Given the description of an element on the screen output the (x, y) to click on. 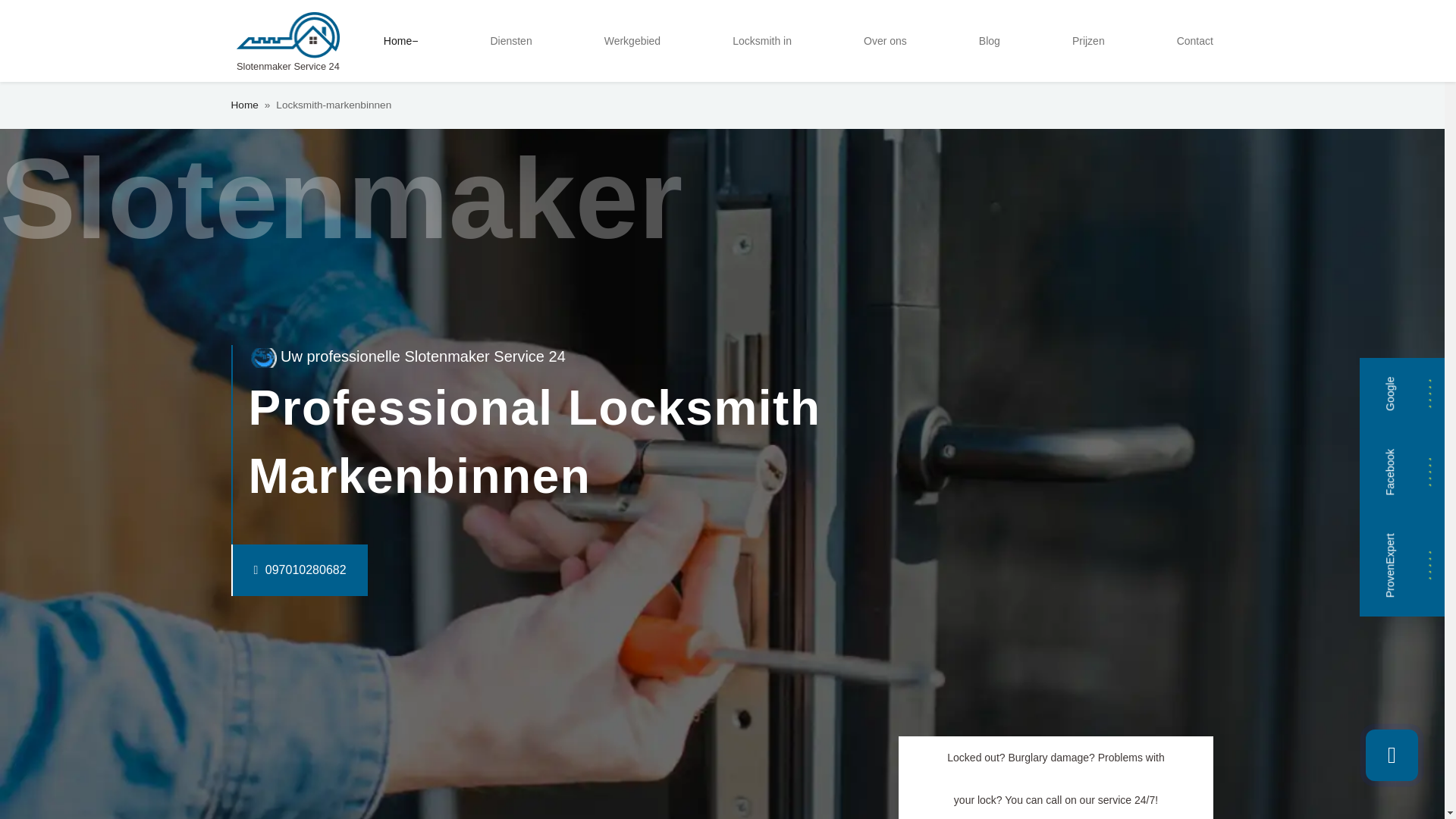
Contact (1195, 40)
Blog (989, 40)
Slotenmaker Service 24 (287, 40)
Home (401, 40)
Diensten (510, 40)
097010280682 (268, 570)
Prijzen (1087, 40)
Werkgebied (632, 40)
Home (243, 105)
Over ons (884, 40)
Locksmith in (761, 40)
